Given the description of an element on the screen output the (x, y) to click on. 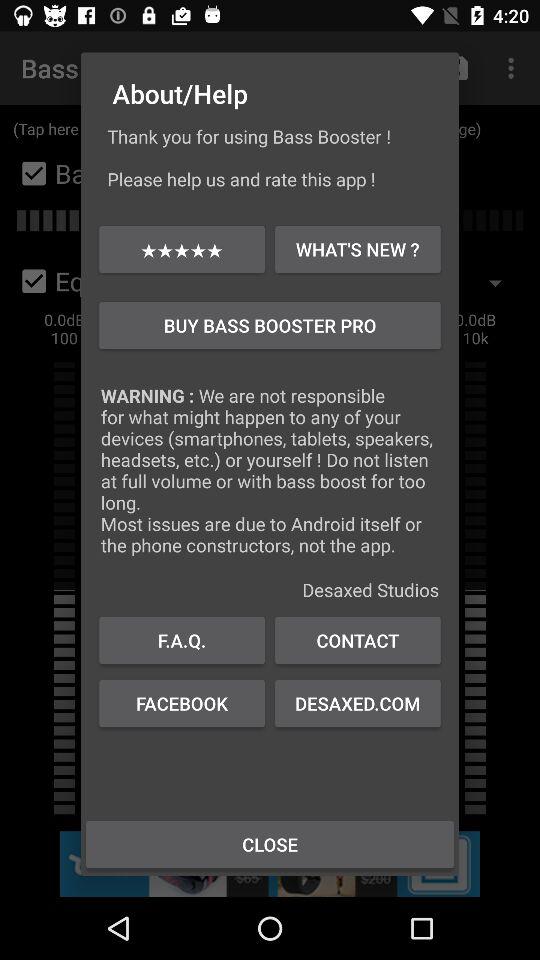
jump to close item (270, 844)
